Given the description of an element on the screen output the (x, y) to click on. 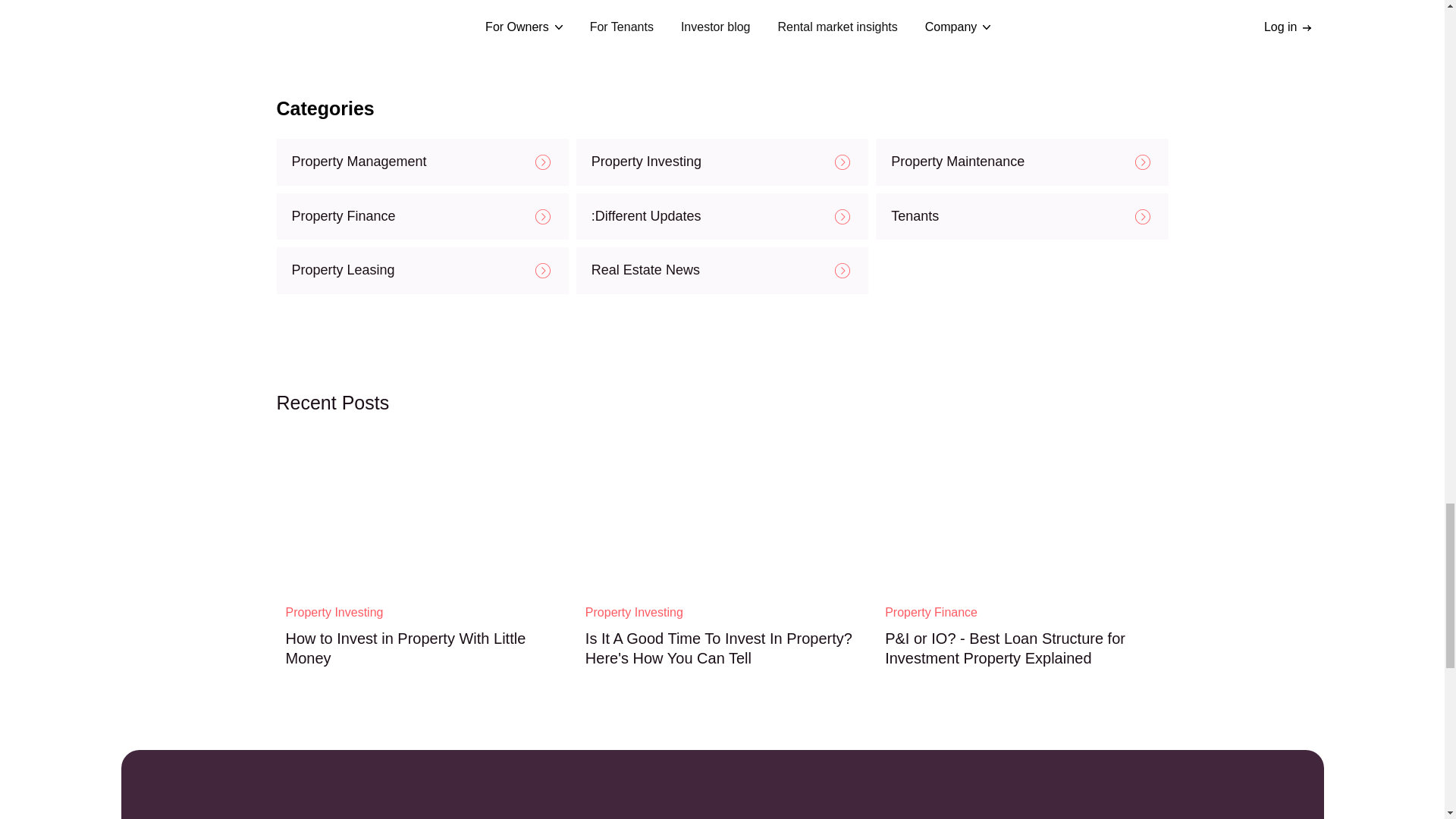
Tenants (1021, 216)
:Different Updates (721, 216)
Property Leasing (421, 270)
Property Finance (421, 216)
Property Management (421, 161)
Property Maintenance (1021, 161)
Property Investing (721, 161)
Real Estate News (721, 270)
